Given the description of an element on the screen output the (x, y) to click on. 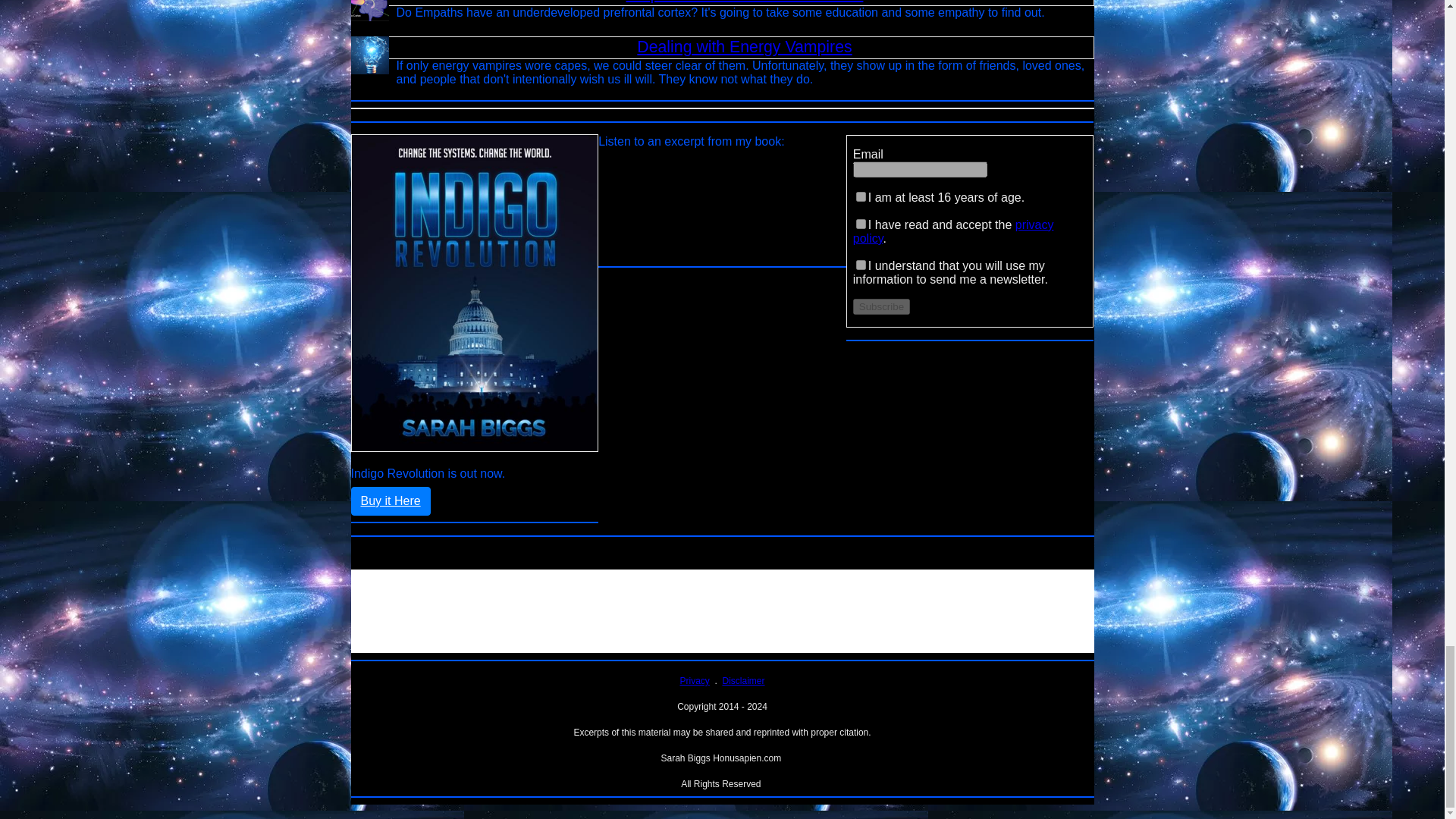
on (861, 224)
on (861, 196)
on (861, 265)
